Given the description of an element on the screen output the (x, y) to click on. 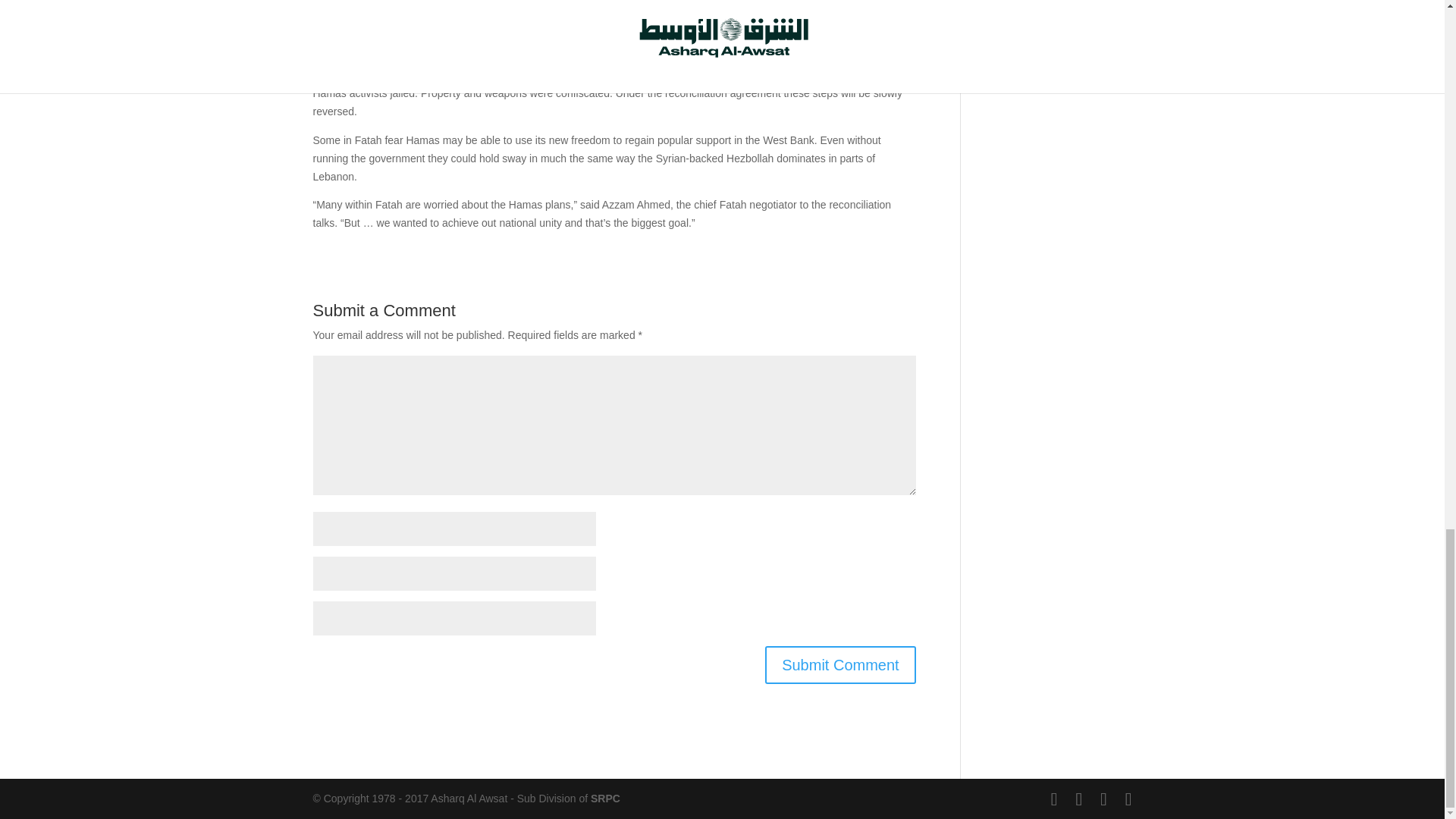
Submit Comment (840, 664)
SRPC (605, 798)
Submit Comment (840, 664)
